Given the description of an element on the screen output the (x, y) to click on. 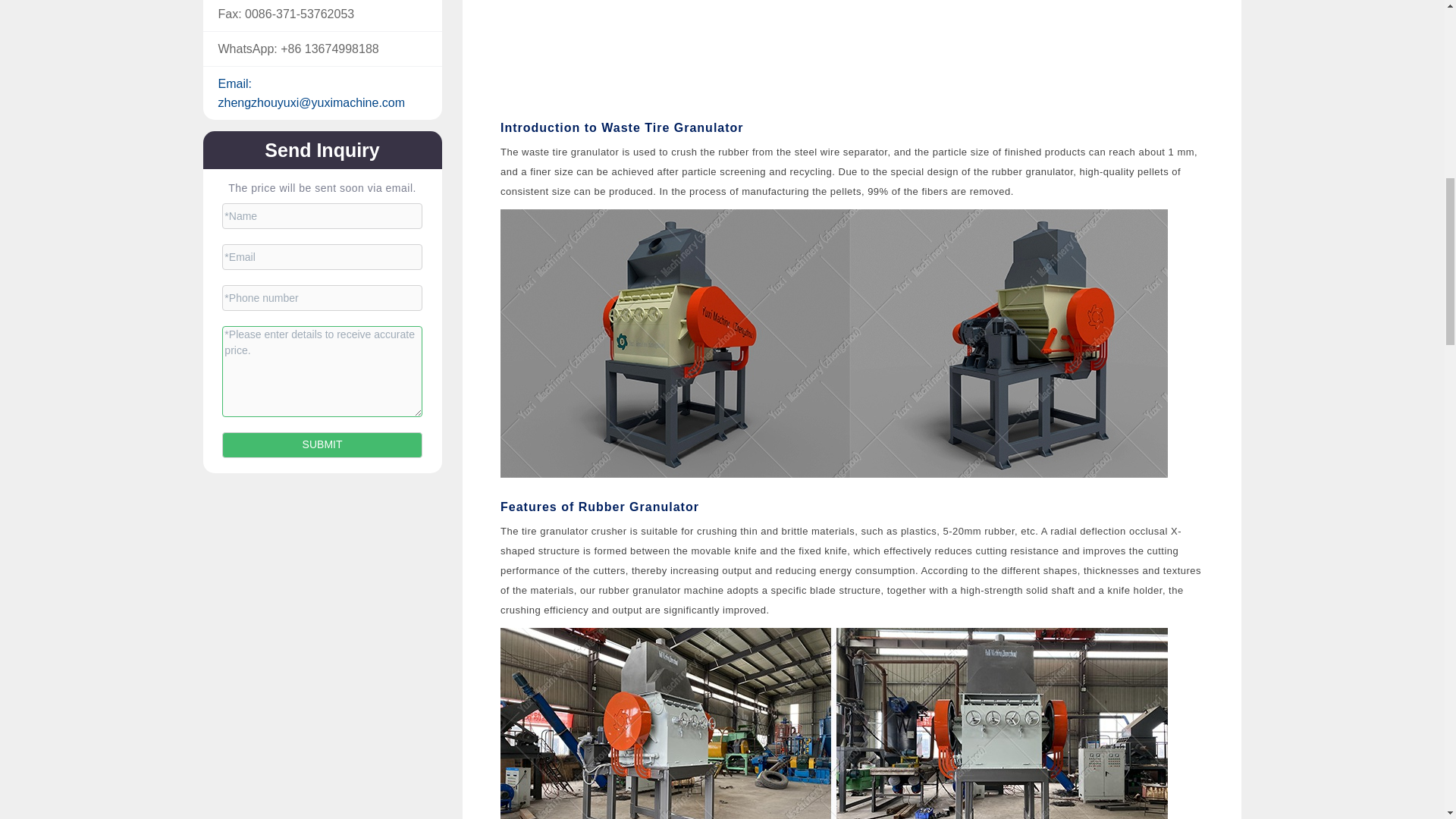
SUBMIT (322, 444)
